Given the description of an element on the screen output the (x, y) to click on. 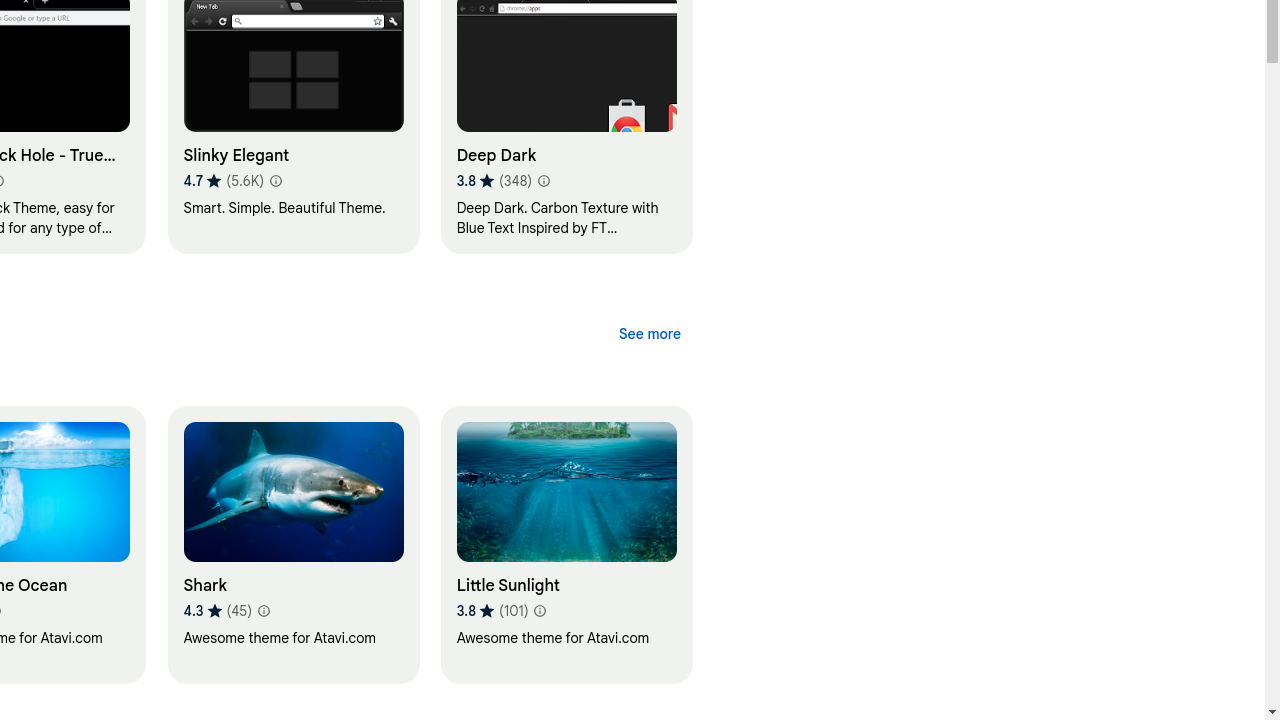
Learn more about results and reviews "Deep Dark" Element type: push-button (543, 181)
Little Sunlight Element type: link (566, 545)
